Given the description of an element on the screen output the (x, y) to click on. 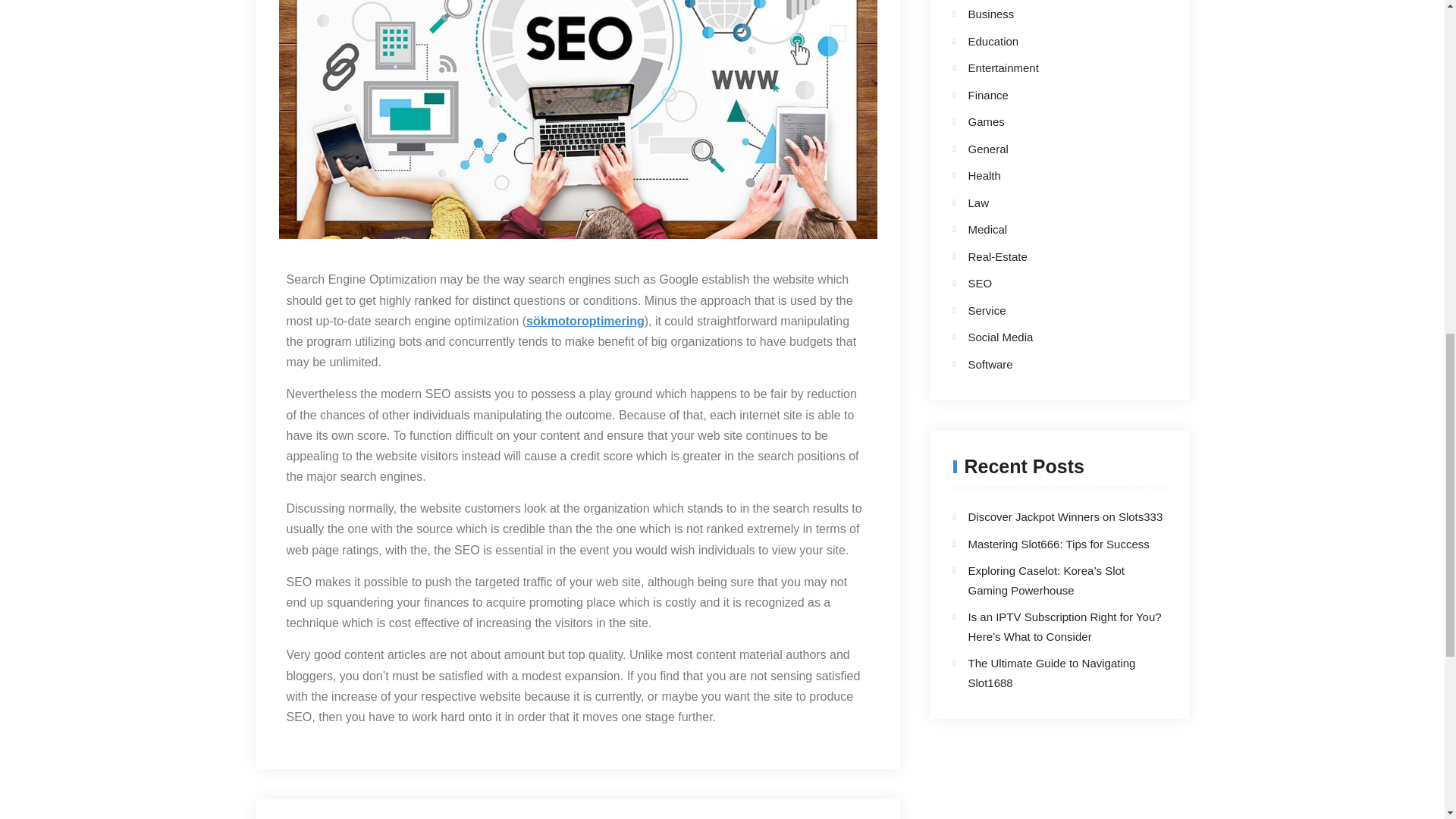
Law (1046, 202)
Games (1046, 121)
Real-Estate (1046, 256)
SEO (1046, 283)
Social Media (1046, 337)
Service (1046, 311)
Business (1046, 14)
Health (1046, 175)
Software (1046, 364)
General (1046, 148)
